Given the description of an element on the screen output the (x, y) to click on. 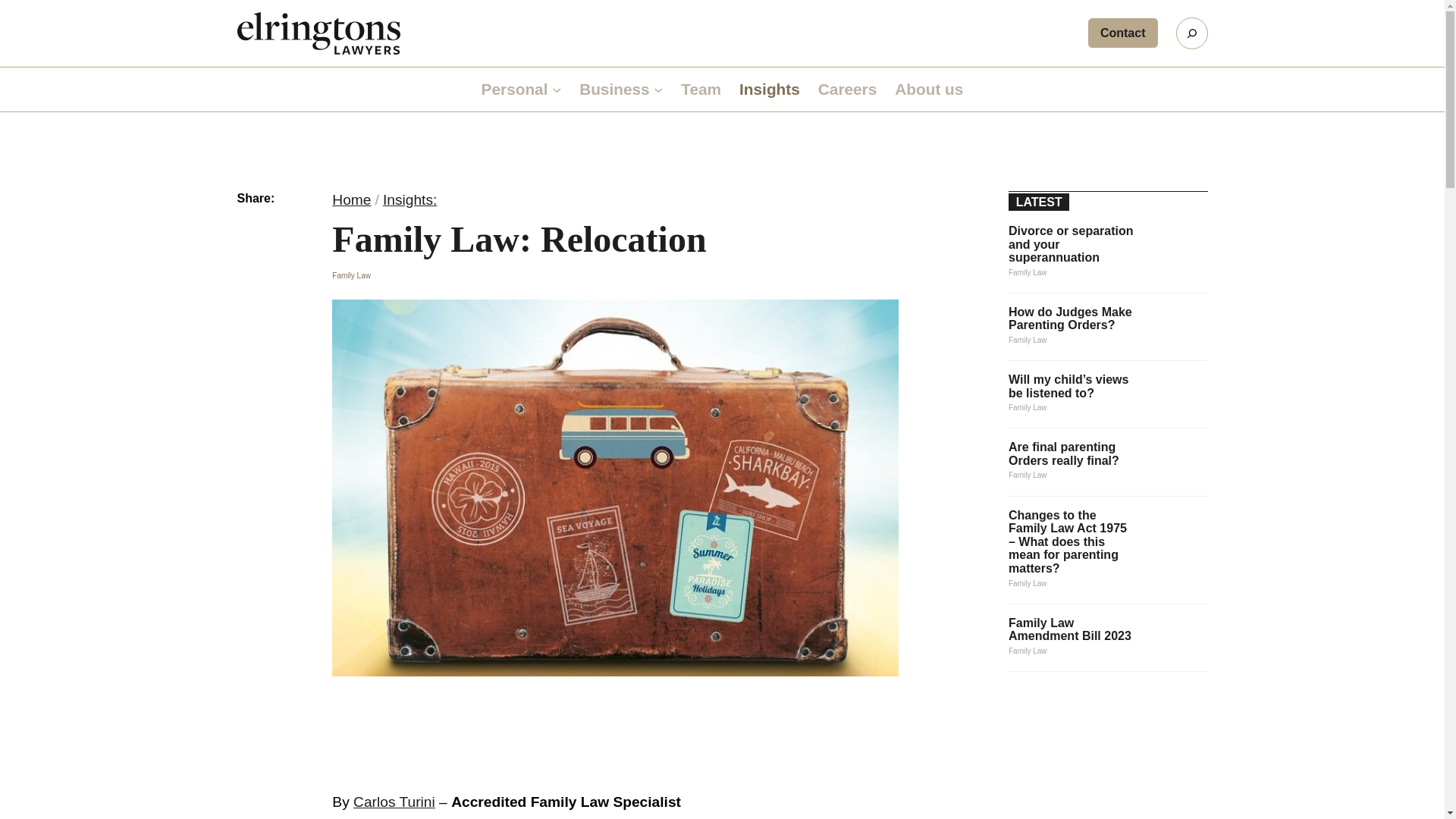
Business (614, 89)
Carlos Turini (394, 801)
Team (700, 89)
Contact (1122, 32)
Personal (514, 89)
Search (1190, 33)
